Given the description of an element on the screen output the (x, y) to click on. 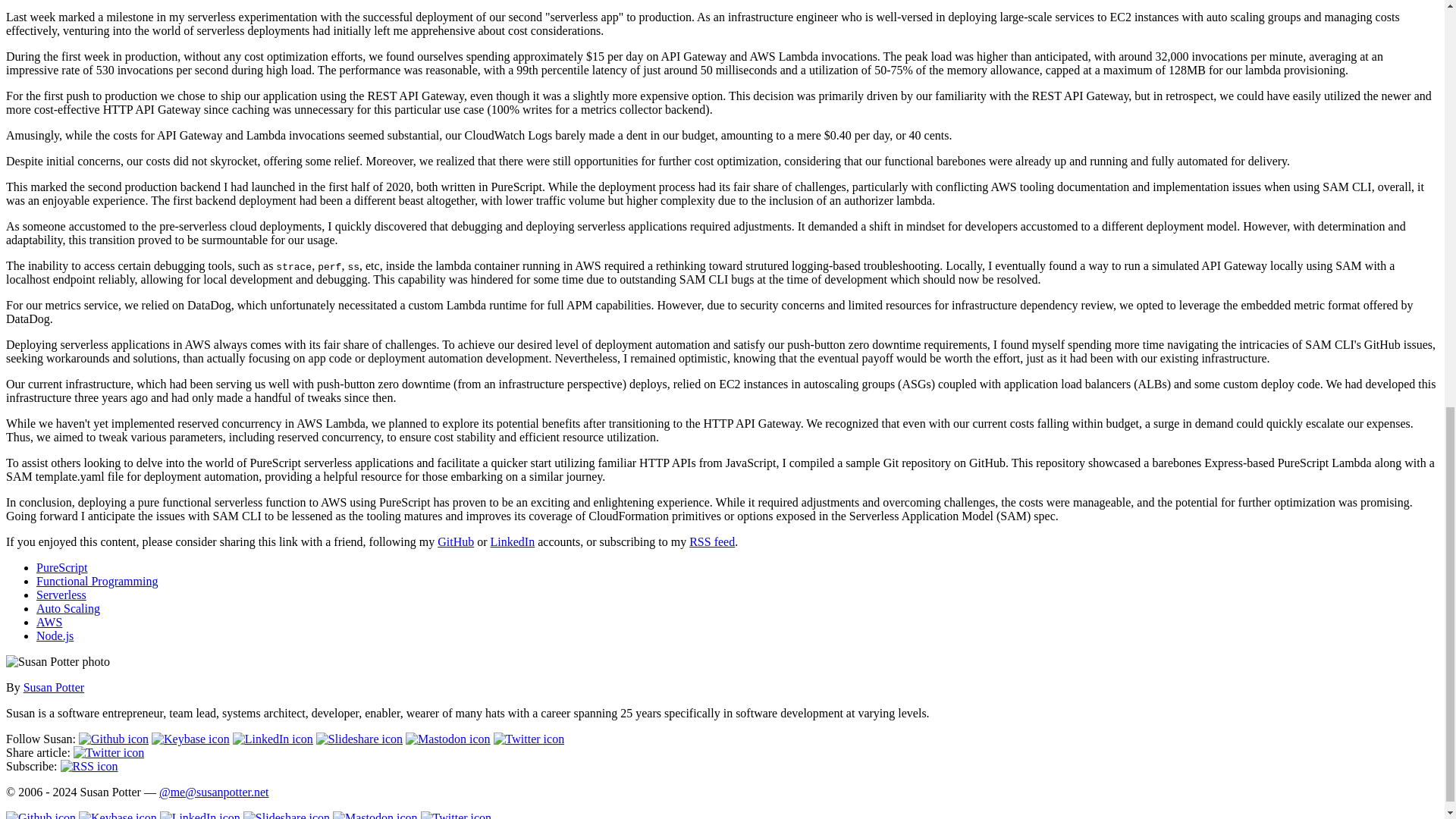
Node.js (55, 635)
Susan's GitHub account (456, 541)
PureScript (61, 567)
Auto Scaling (68, 608)
AWS (49, 621)
mbbx6spp on Github (113, 738)
SusanPotter on Twitter (528, 738)
mbbx6spp on Slideshare (359, 738)
mbbx6spp on Keybase (190, 738)
 on RSS (89, 766)
